Given the description of an element on the screen output the (x, y) to click on. 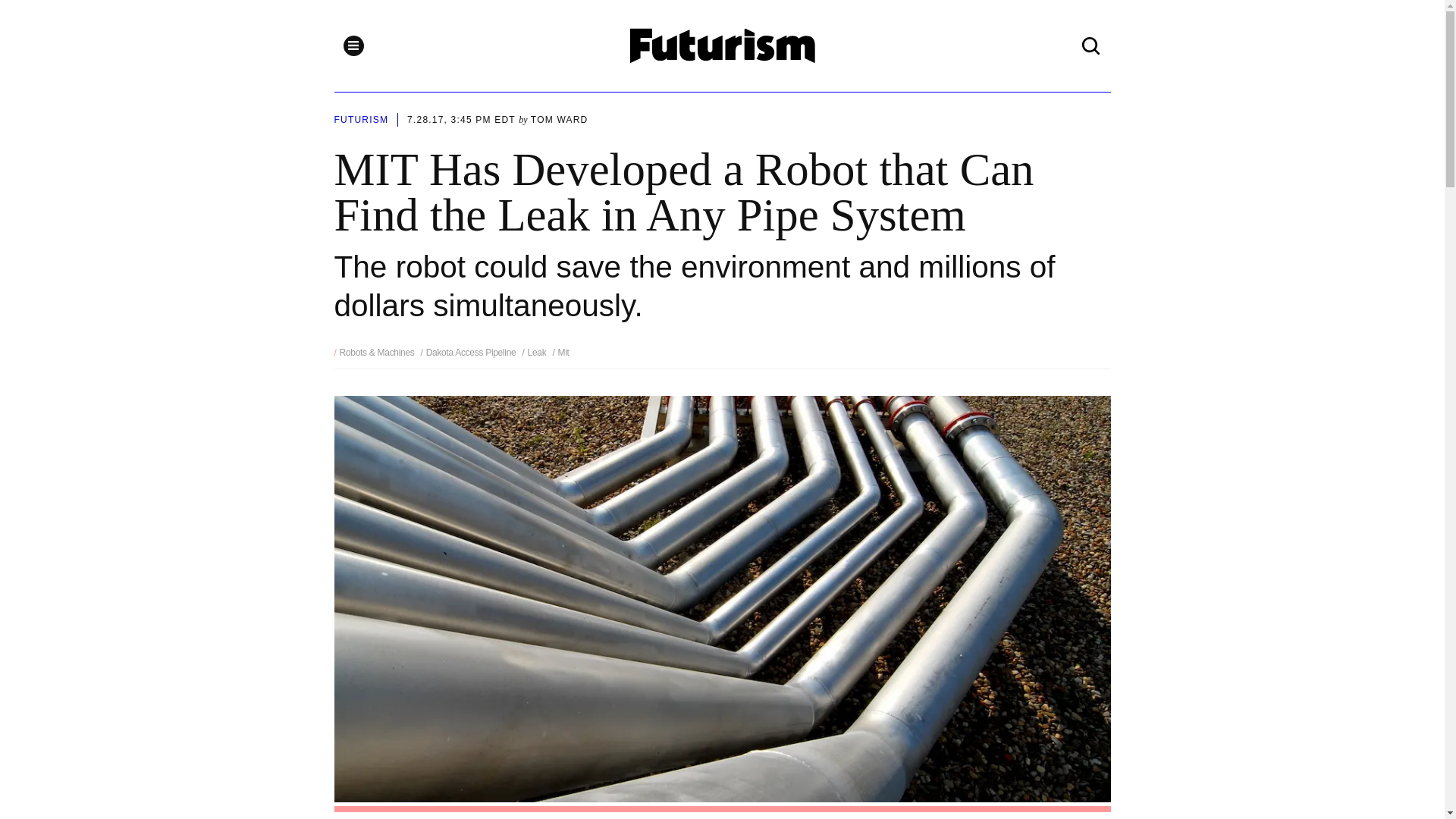
TOM WARD (559, 119)
dakota access pipeline (468, 352)
Tom Ward (559, 119)
mit (560, 352)
Futurism (722, 45)
leak (534, 352)
